Given the description of an element on the screen output the (x, y) to click on. 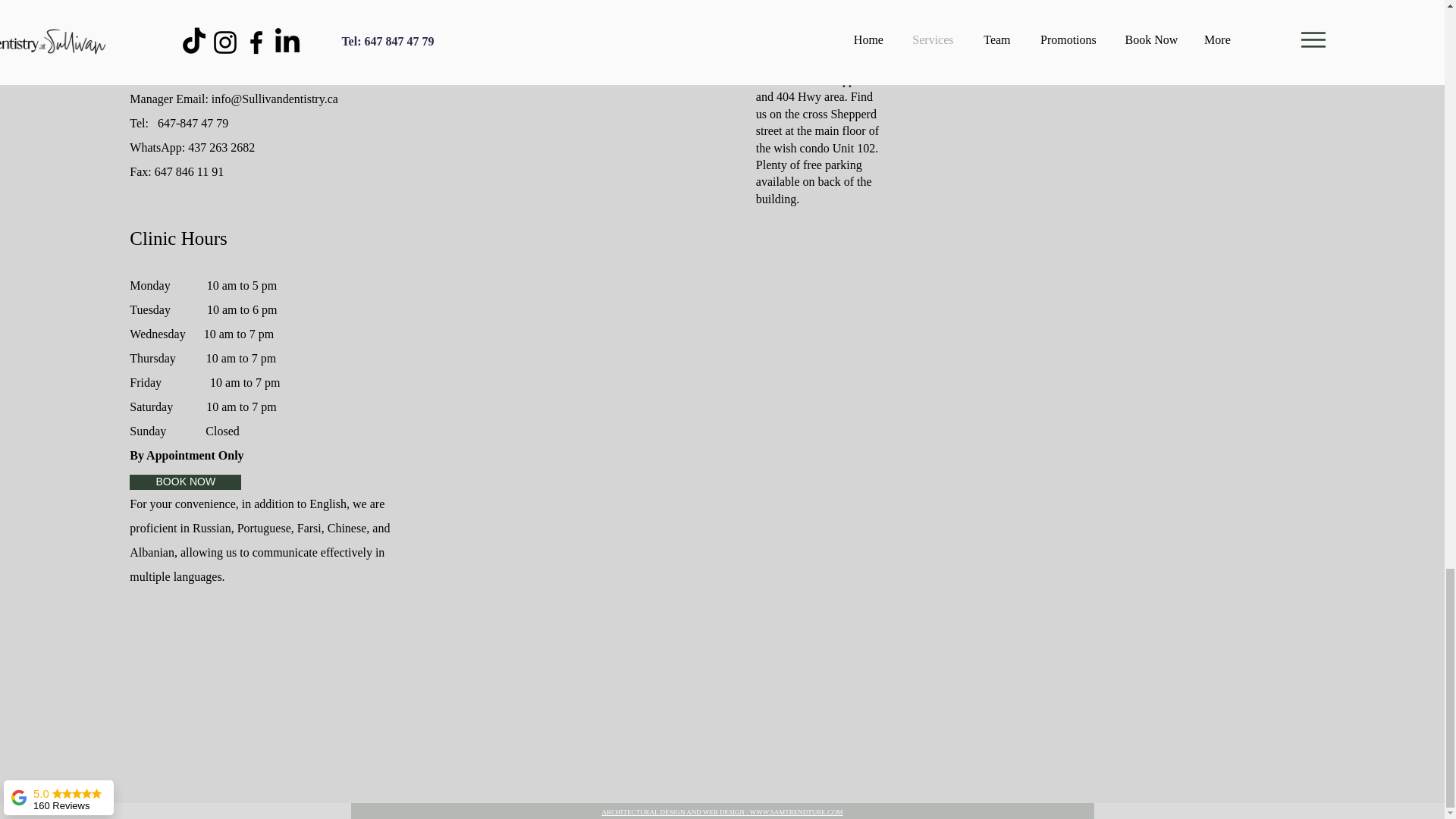
Manager Email:  (170, 98)
